Given the description of an element on the screen output the (x, y) to click on. 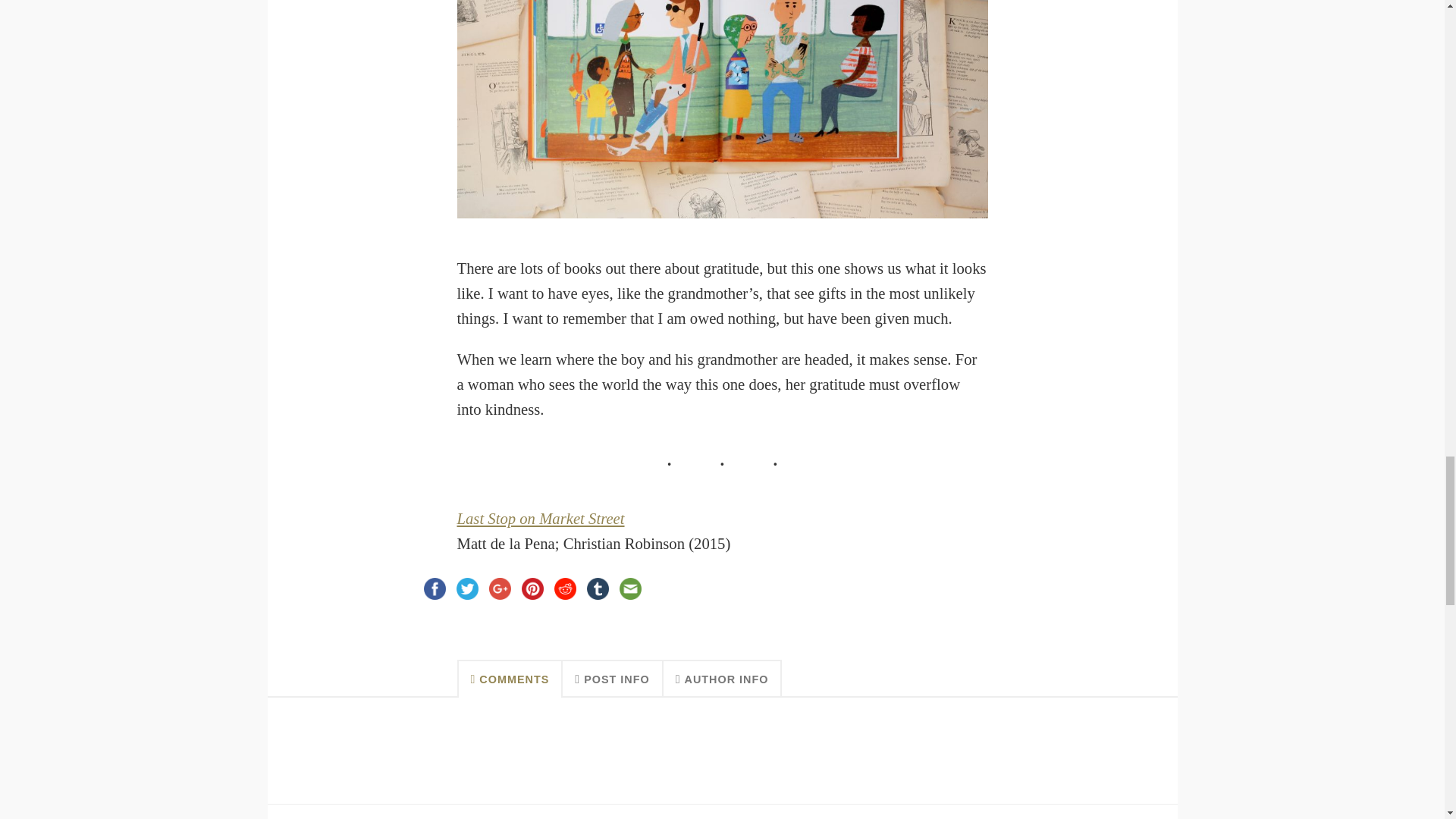
facebook (435, 588)
reddit (564, 588)
COMMENTS (509, 678)
AUTHOR INFO (723, 678)
POST INFO (612, 678)
twitter (467, 588)
email (630, 588)
Last Stop on Market Street (540, 518)
pinterest (532, 588)
tumblr (597, 588)
